Given the description of an element on the screen output the (x, y) to click on. 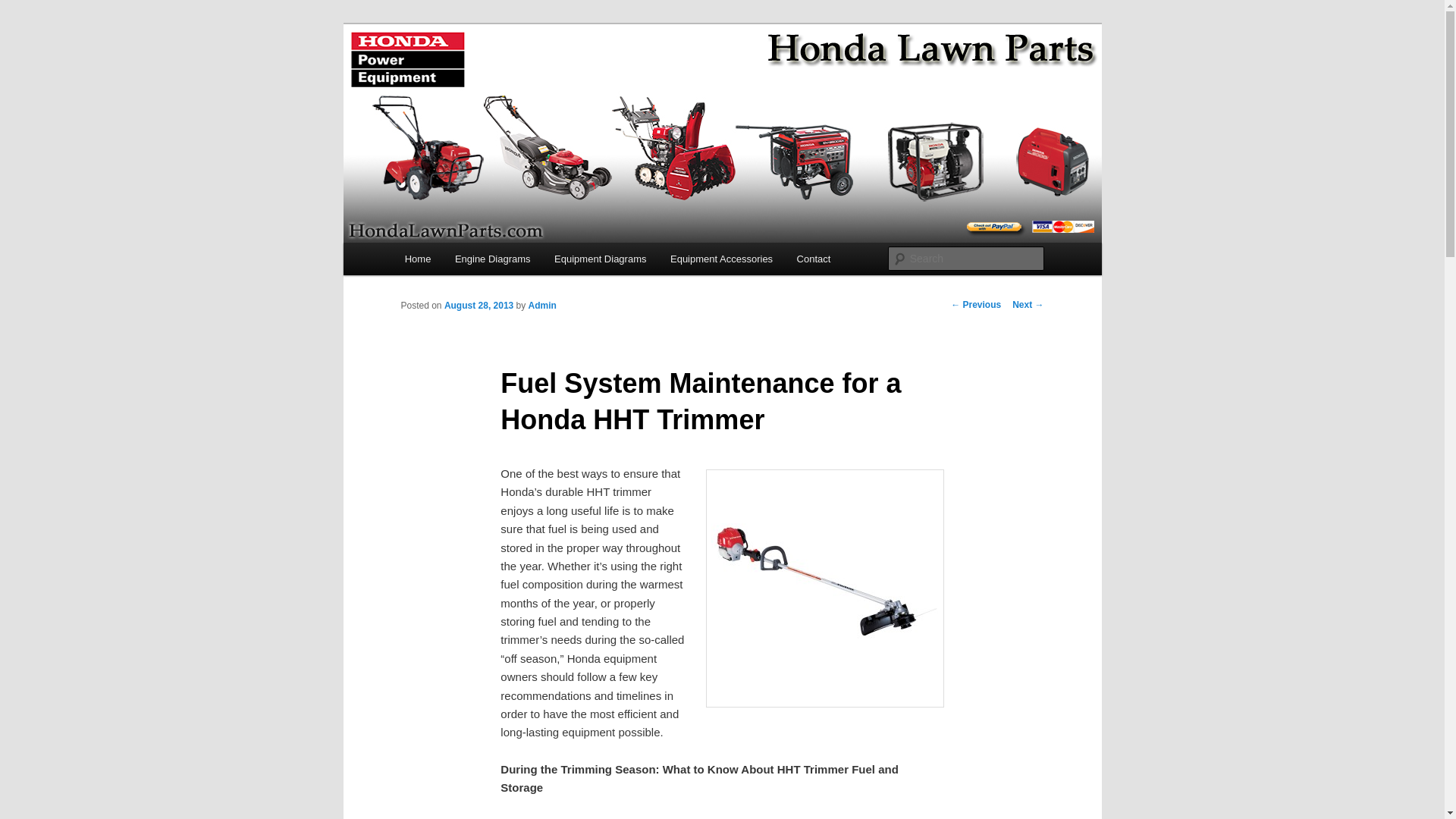
View all posts by Admin (542, 305)
Honda Lawn Parts Blog (528, 78)
Equipment Accessories (721, 258)
Equipment Diagrams (599, 258)
August 28, 2013 (478, 305)
Contact (813, 258)
Search (24, 8)
5:00 pm (478, 305)
Engine Diagrams (491, 258)
